Given the description of an element on the screen output the (x, y) to click on. 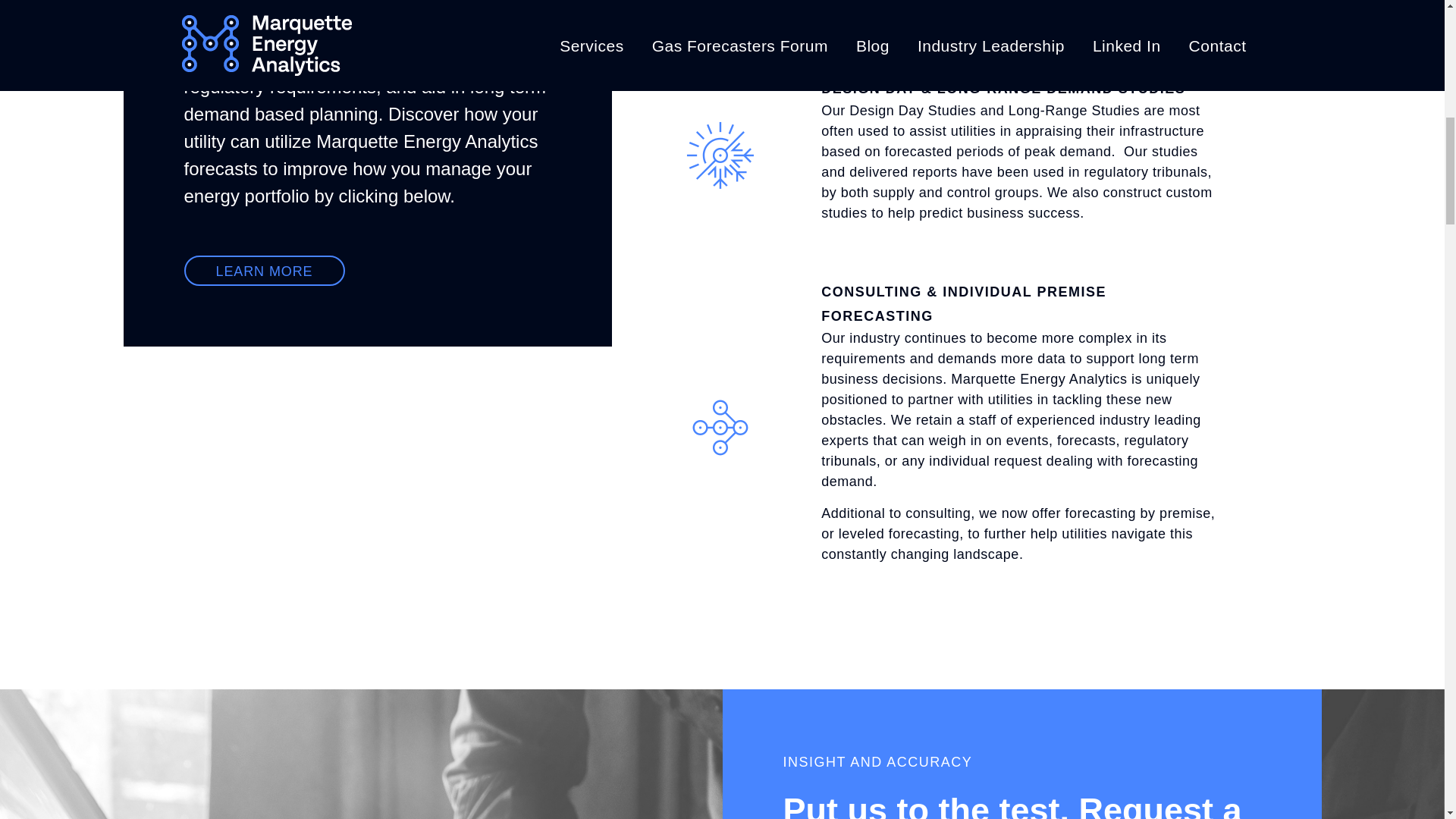
mea-desday (719, 154)
mea-delfuel (719, 427)
